Given the description of an element on the screen output the (x, y) to click on. 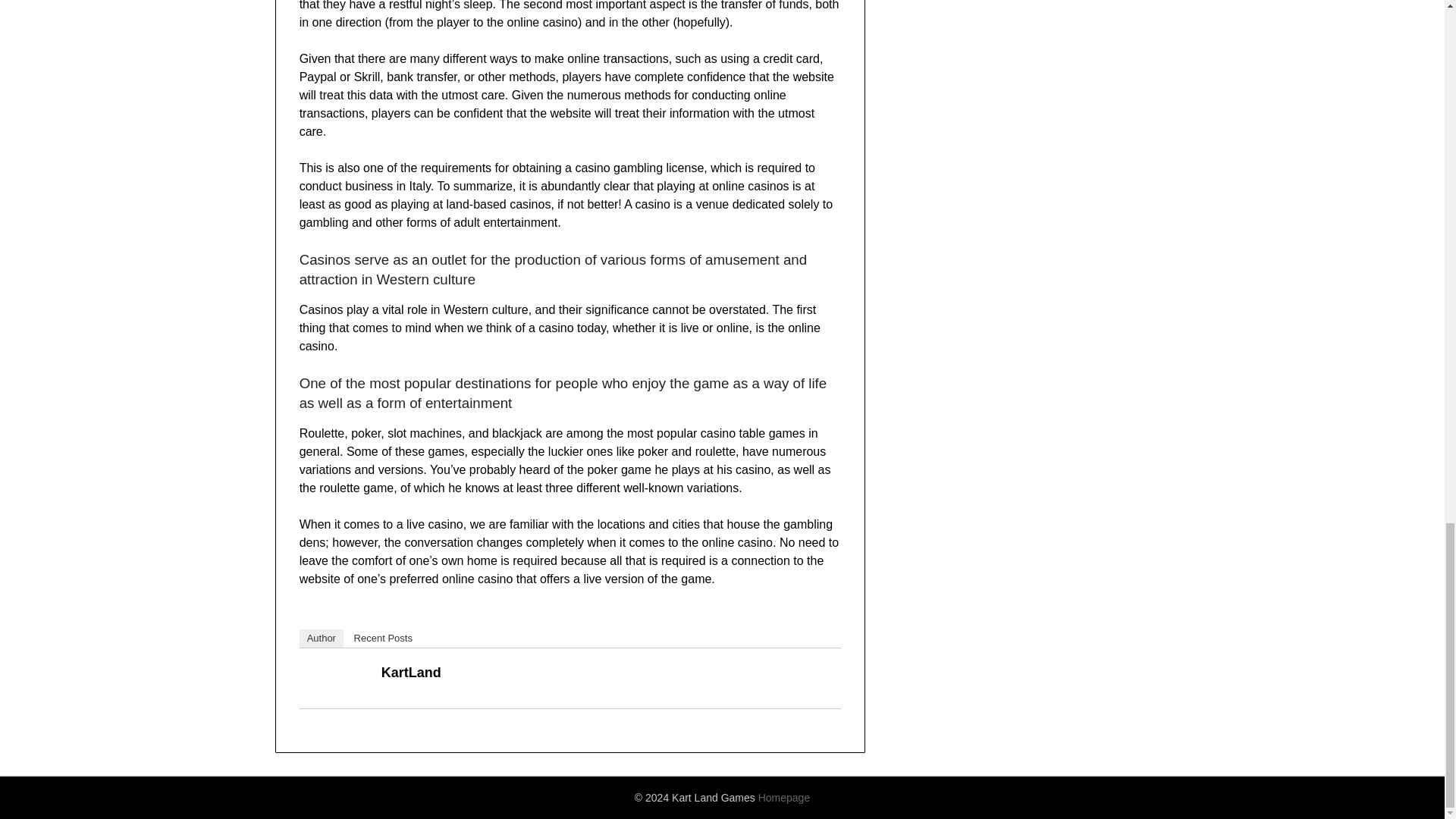
Author (321, 638)
Recent Posts (383, 638)
Homepage (784, 797)
KartLand (411, 672)
